Given the description of an element on the screen output the (x, y) to click on. 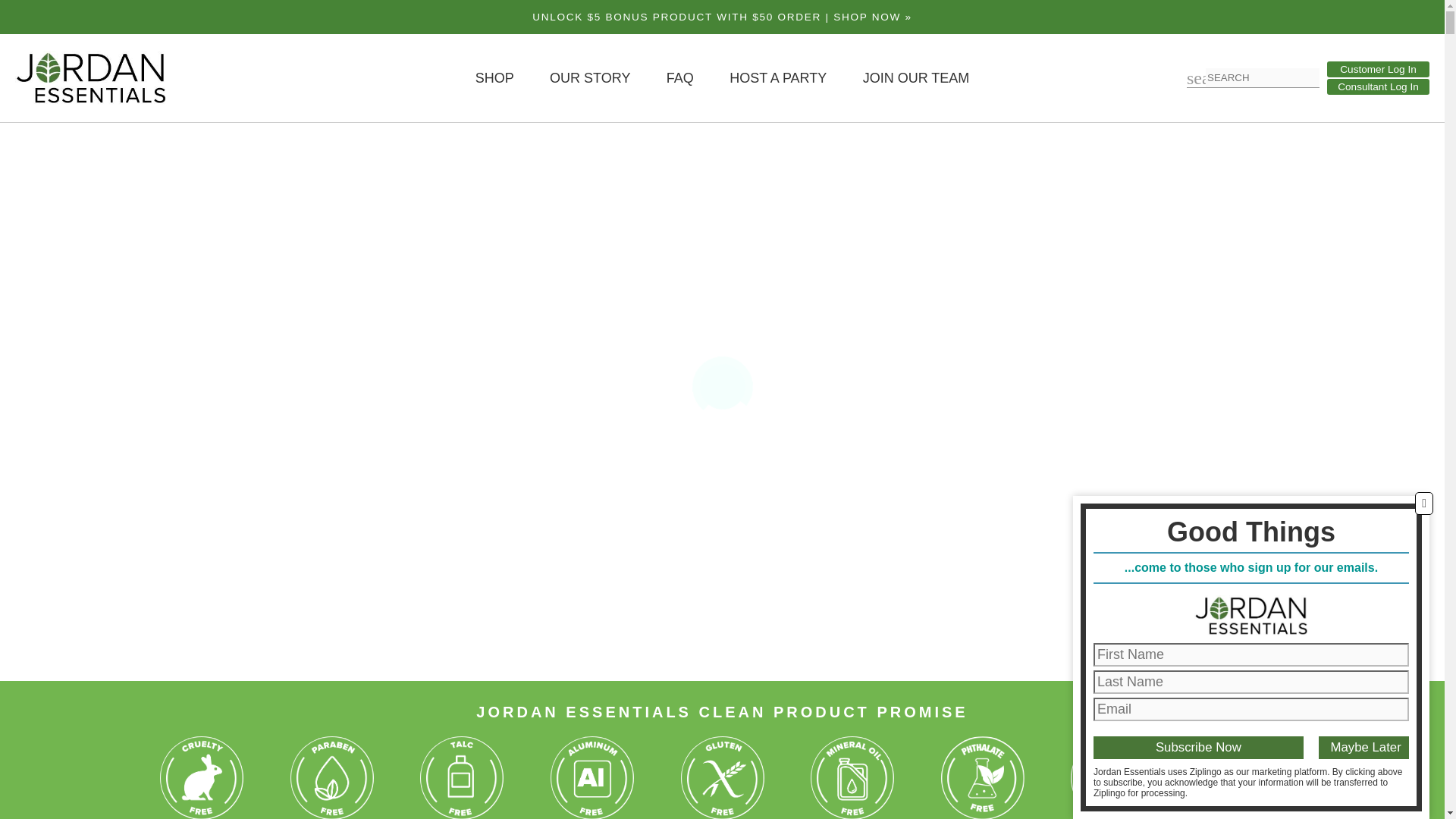
search (1195, 76)
SHOP (494, 77)
JOIN OUR TEAM (916, 77)
Customer Log In (1377, 68)
Consultant Log In (1377, 86)
FAQ (680, 77)
OUR STORY (590, 77)
Subscribe Now (1198, 747)
HOST A PARTY (778, 77)
Maybe Later (1364, 747)
